Given the description of an element on the screen output the (x, y) to click on. 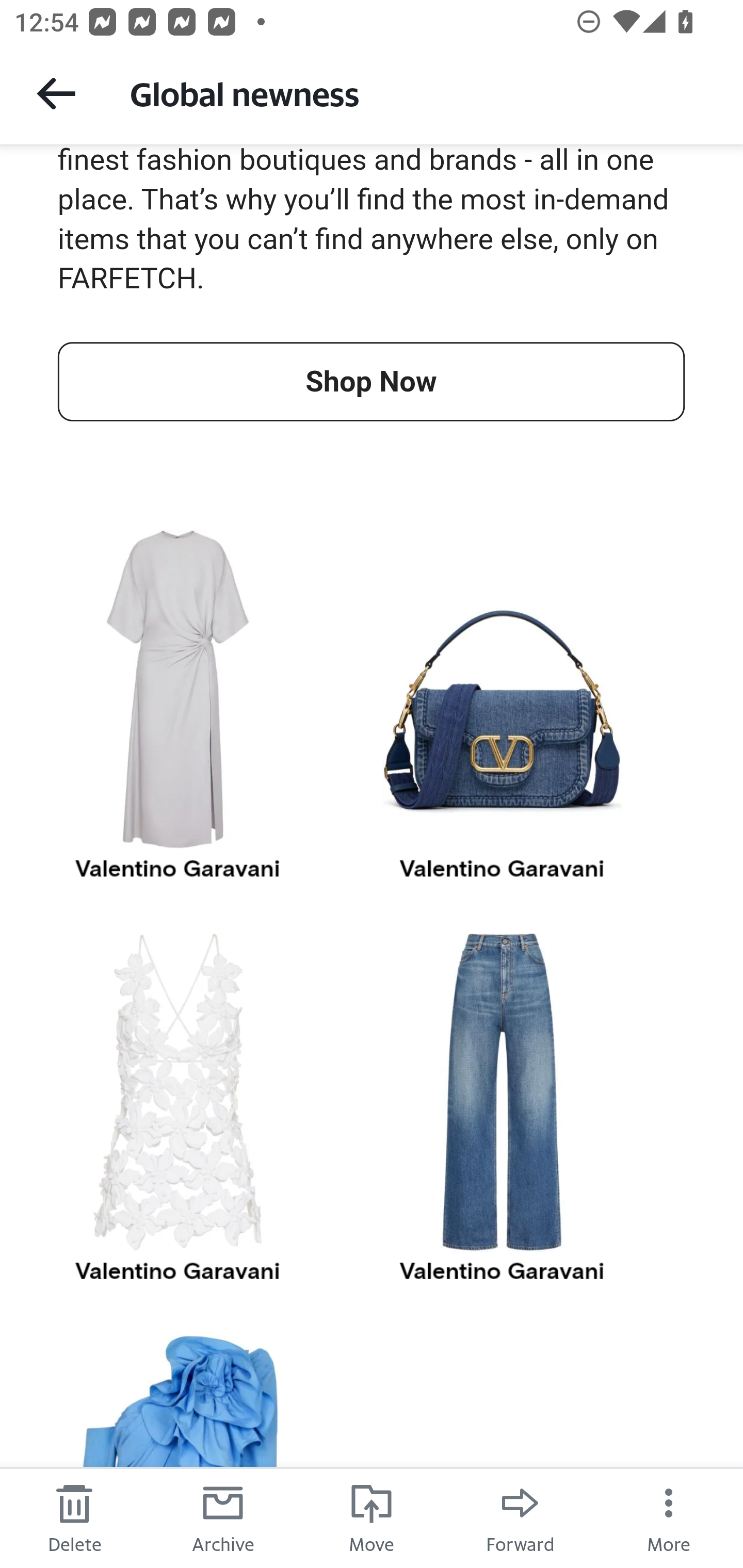
Back (55, 92)
Shop Now (371, 380)
product grid image (177, 688)
product grid image (502, 688)
product grid brand (177, 868)
product grid brand (502, 868)
product grid image (177, 1092)
product grid image (502, 1092)
product grid brand (177, 1271)
product grid brand (502, 1271)
Delete (74, 1517)
Archive (222, 1517)
Move (371, 1517)
Forward (519, 1517)
More (668, 1517)
